Given the description of an element on the screen output the (x, y) to click on. 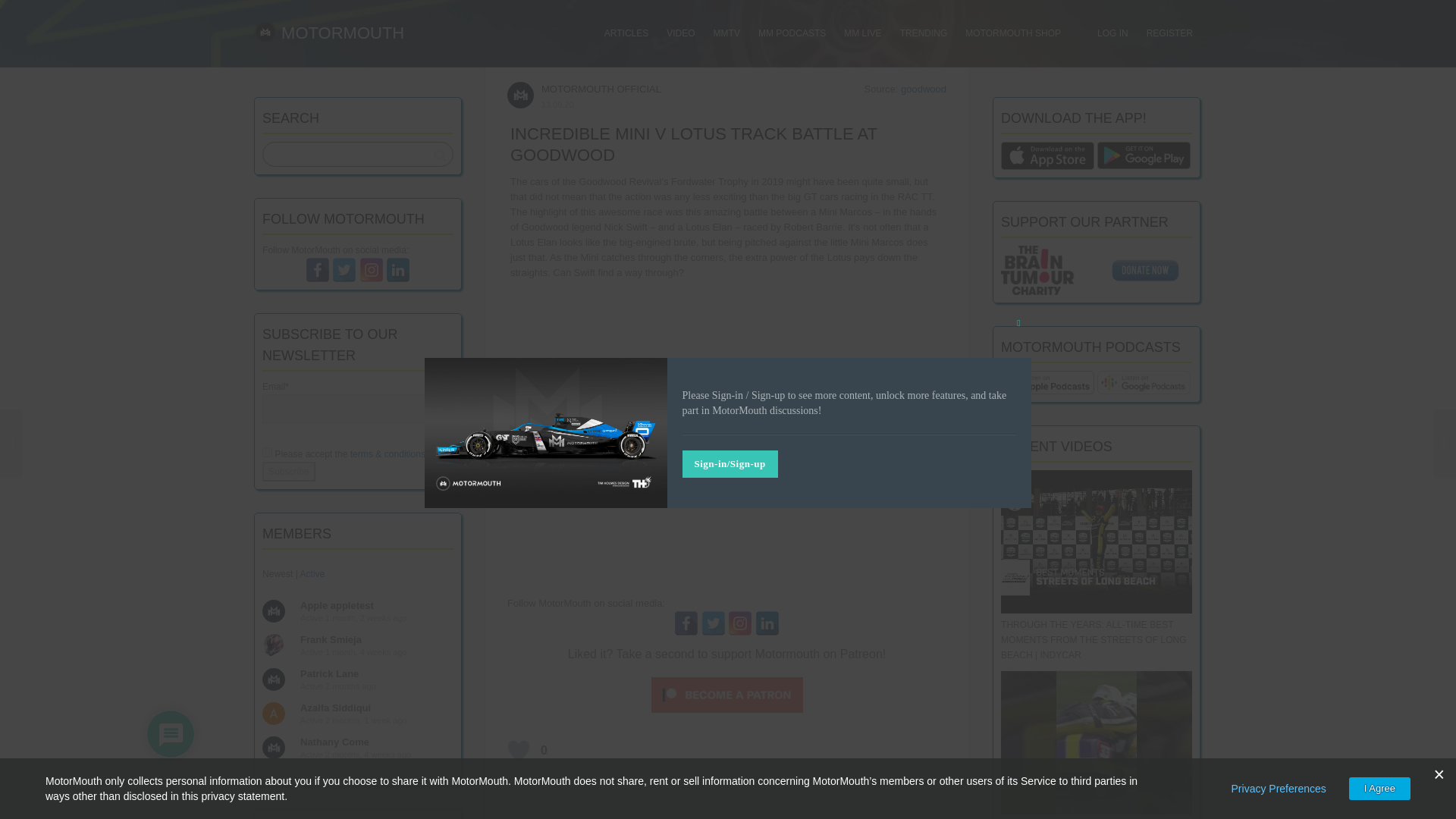
MM PODCASTS (791, 33)
MM Podcasts (791, 33)
View Motormouth Official's profile (520, 93)
Search (439, 154)
Search (439, 154)
MOTORMOUTH SHOP (1013, 33)
MotorMouth Shop (1013, 33)
Newest (277, 573)
Search (439, 154)
View Motormouth Official's profile (601, 89)
true (267, 452)
Subscribe (288, 471)
MOTORMOUTH OFFICIAL (601, 89)
Subscribe (288, 471)
MOTORMOUTH (328, 33)
